Given the description of an element on the screen output the (x, y) to click on. 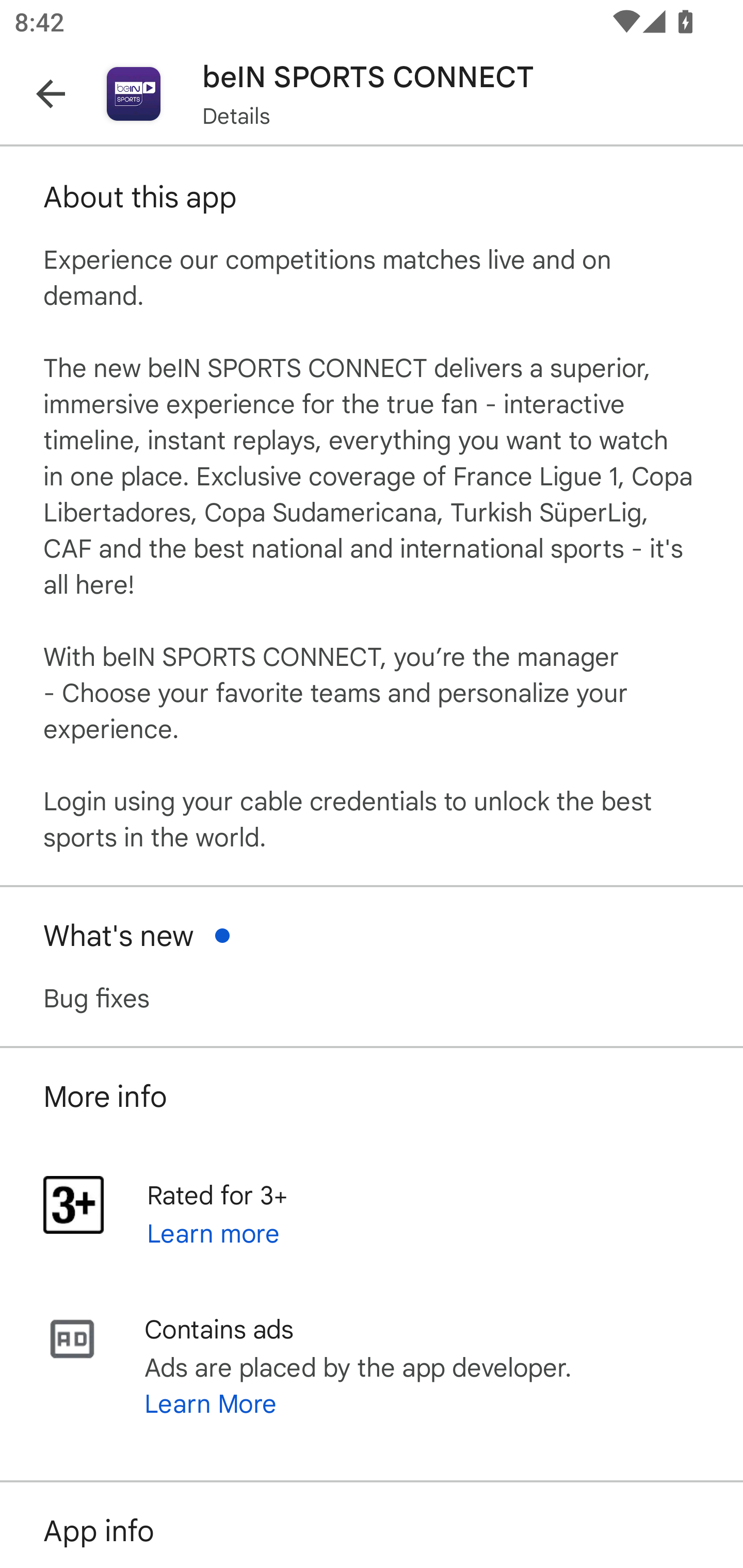
Navigate up (50, 93)
